Given the description of an element on the screen output the (x, y) to click on. 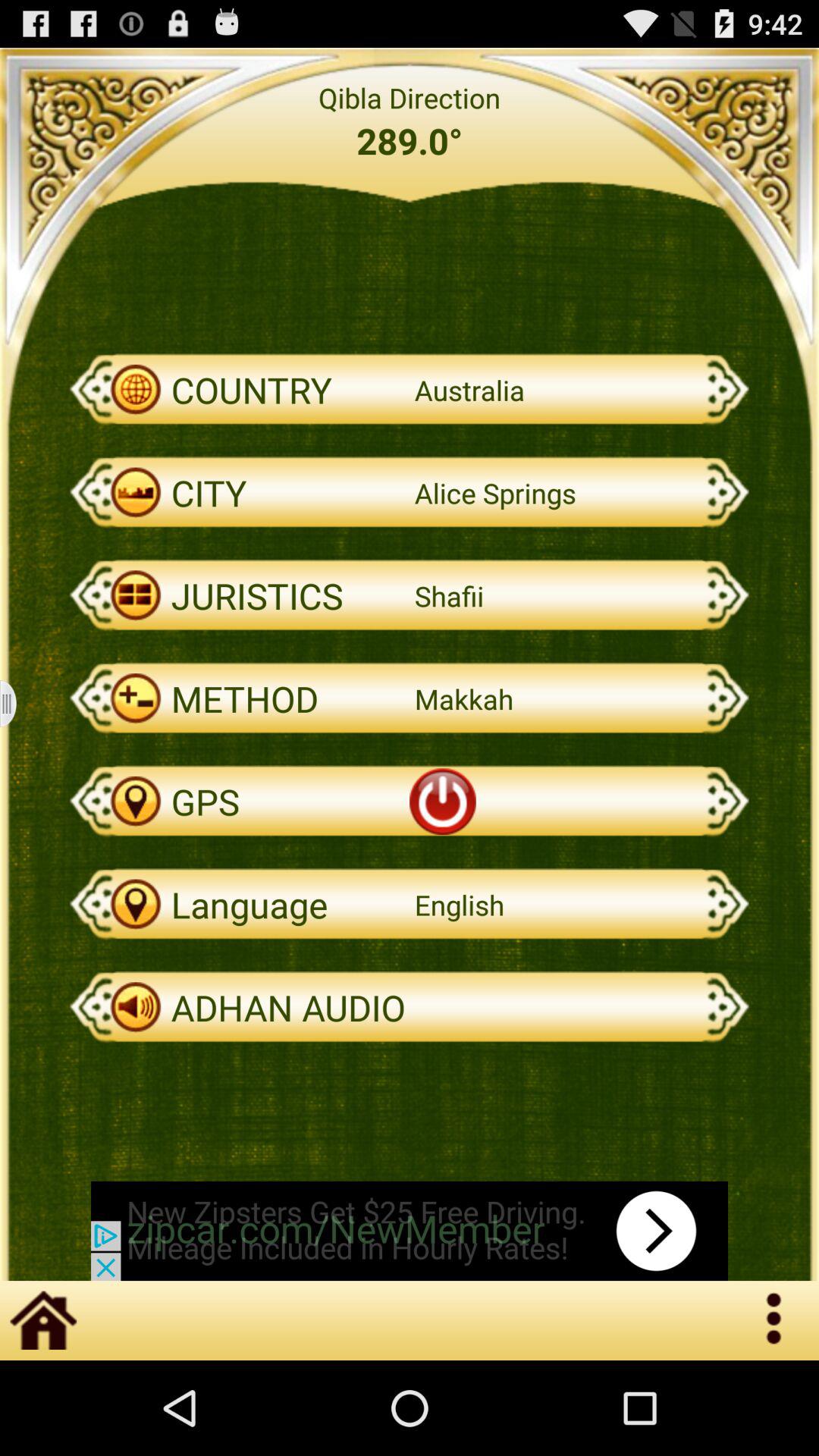
select juristics on the page (409, 595)
select the second option from the last (409, 903)
select the city alice springs (409, 493)
select the tab below text language (409, 1007)
go to bottom right option (775, 1320)
click on the text in the third line (409, 389)
select the option method which is above power button (409, 698)
